Given the description of an element on the screen output the (x, y) to click on. 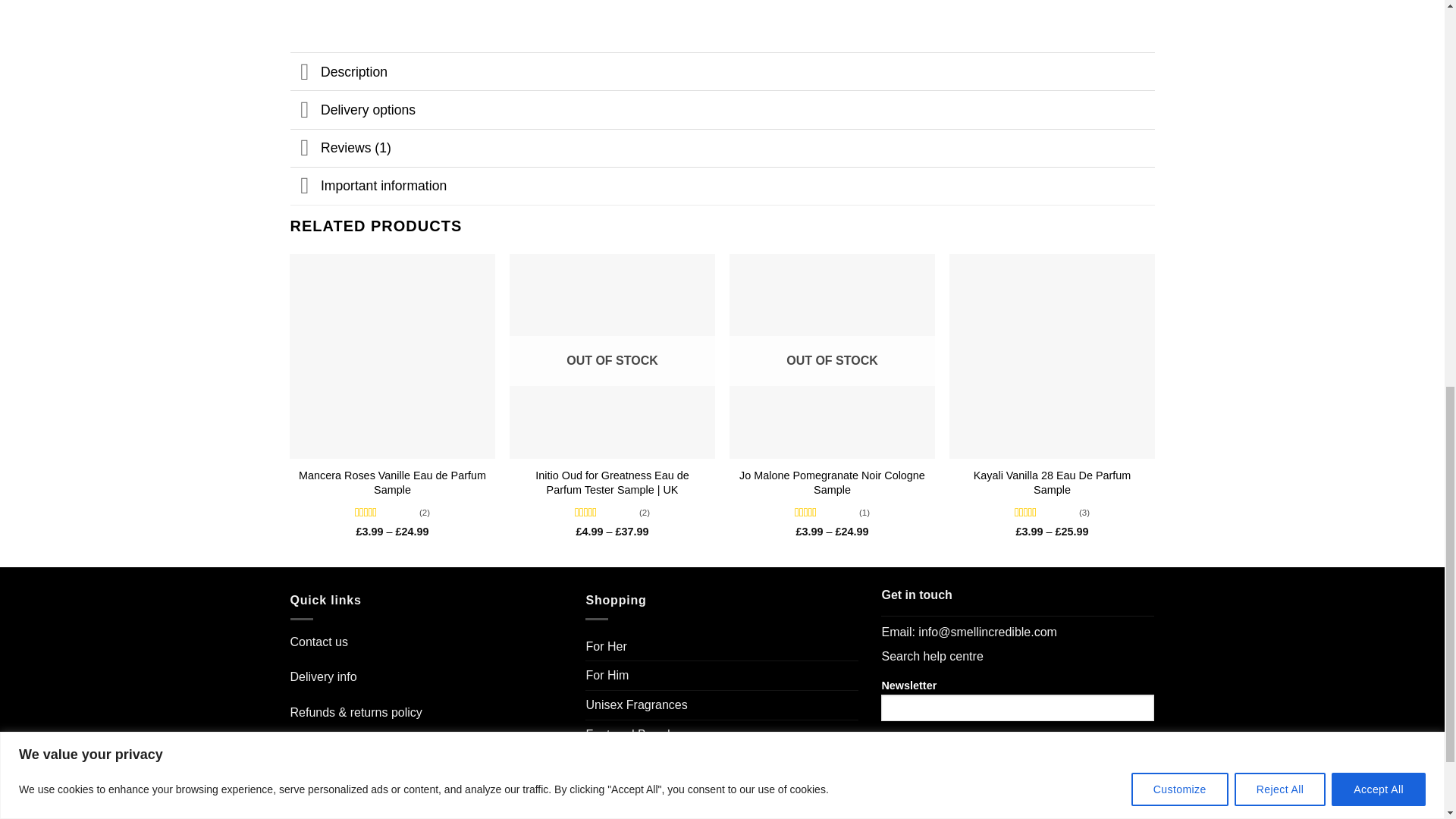
Subscribe (932, 750)
